Given the description of an element on the screen output the (x, y) to click on. 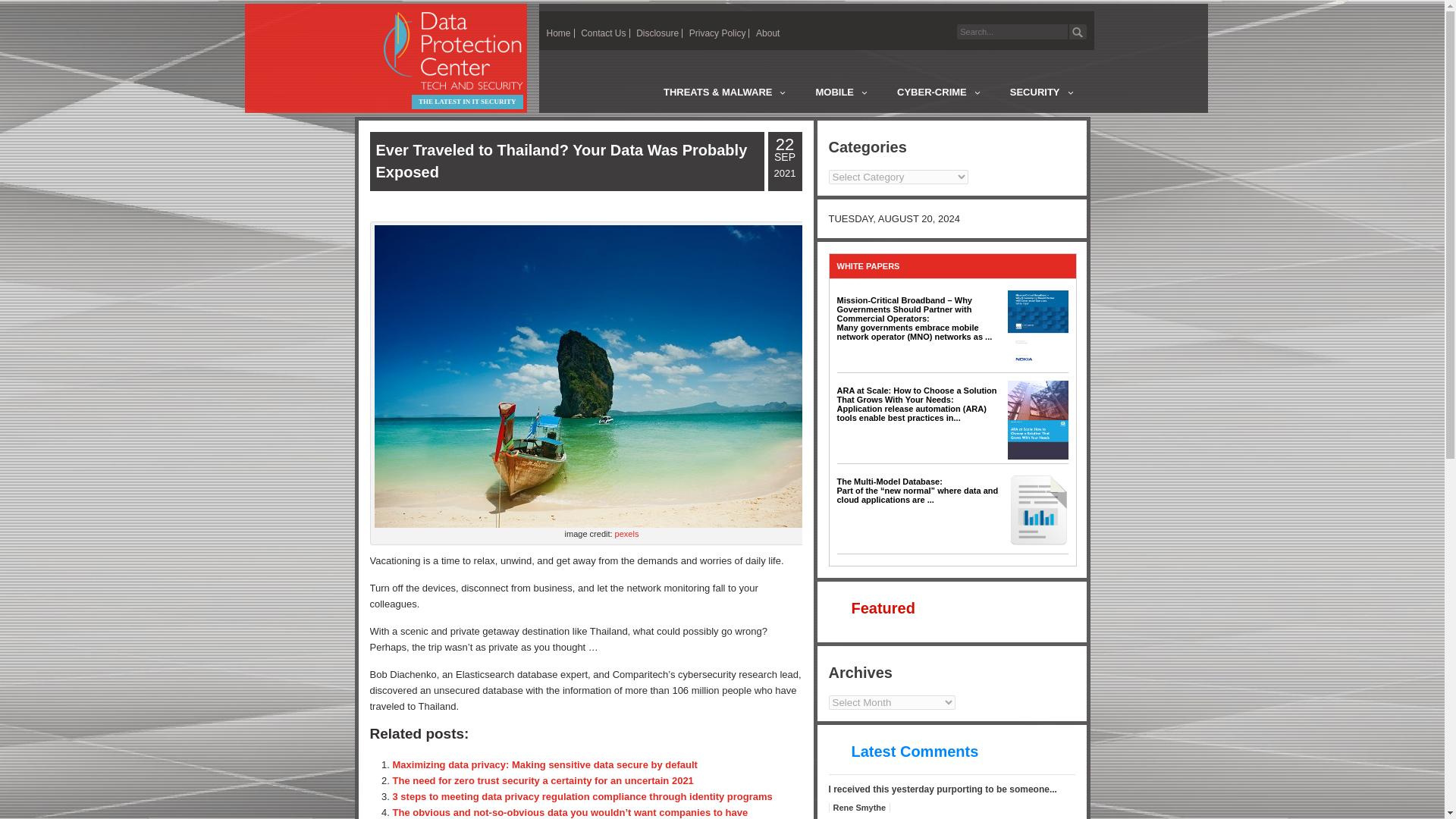
Privacy Policy (716, 32)
Contact Us (603, 32)
Go (1077, 31)
MOBILE (838, 94)
pexels (626, 533)
CYBER-CRIME (936, 94)
Go (1077, 31)
